Given the description of an element on the screen output the (x, y) to click on. 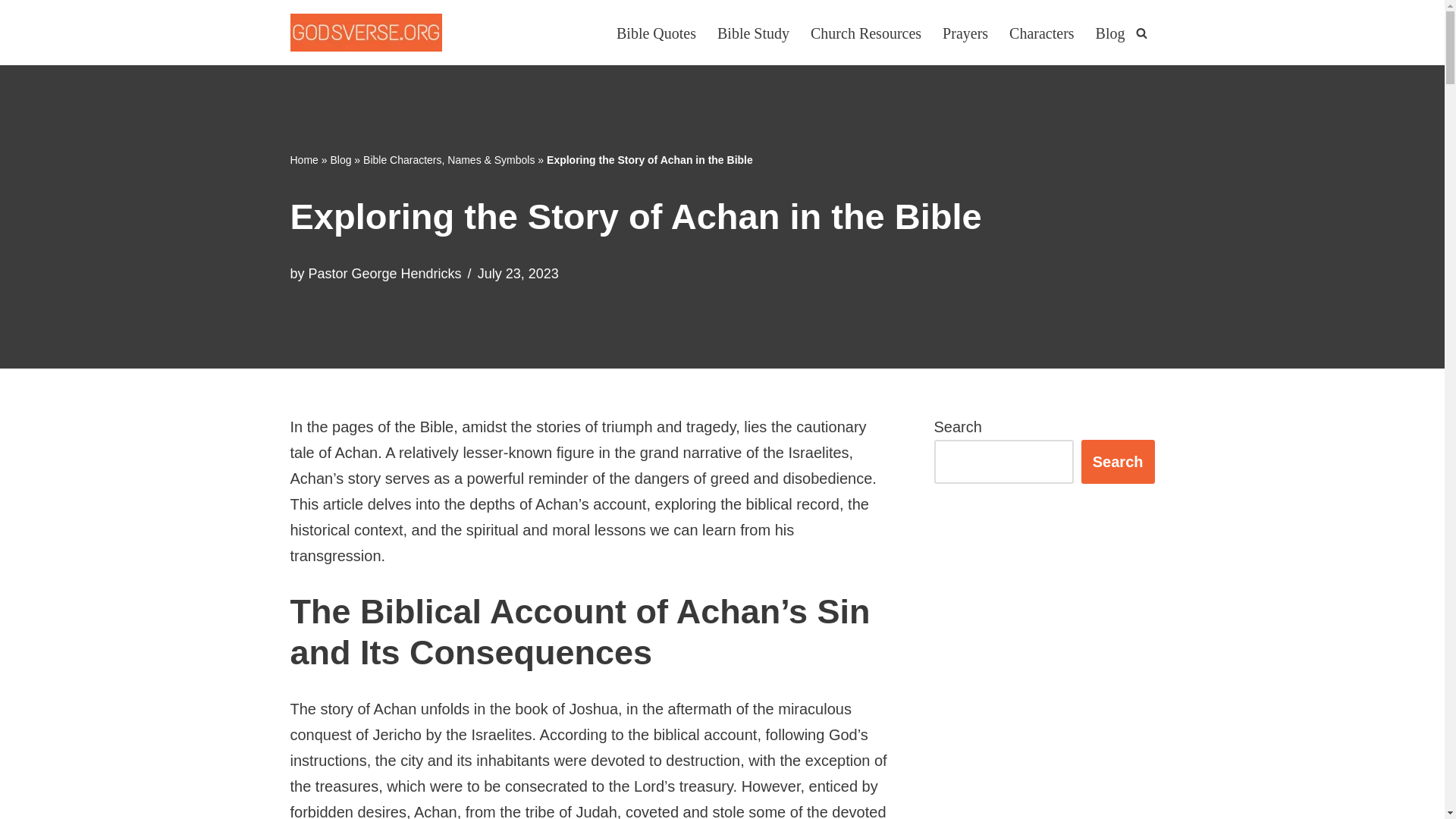
Search (1117, 461)
Skip to content (11, 31)
Church Resources (865, 32)
Bible Study (753, 32)
Blog (340, 159)
Prayers (965, 32)
Posts by Pastor George Hendricks (384, 273)
Characters (1041, 32)
Pastor George Hendricks (384, 273)
Home (303, 159)
